Given the description of an element on the screen output the (x, y) to click on. 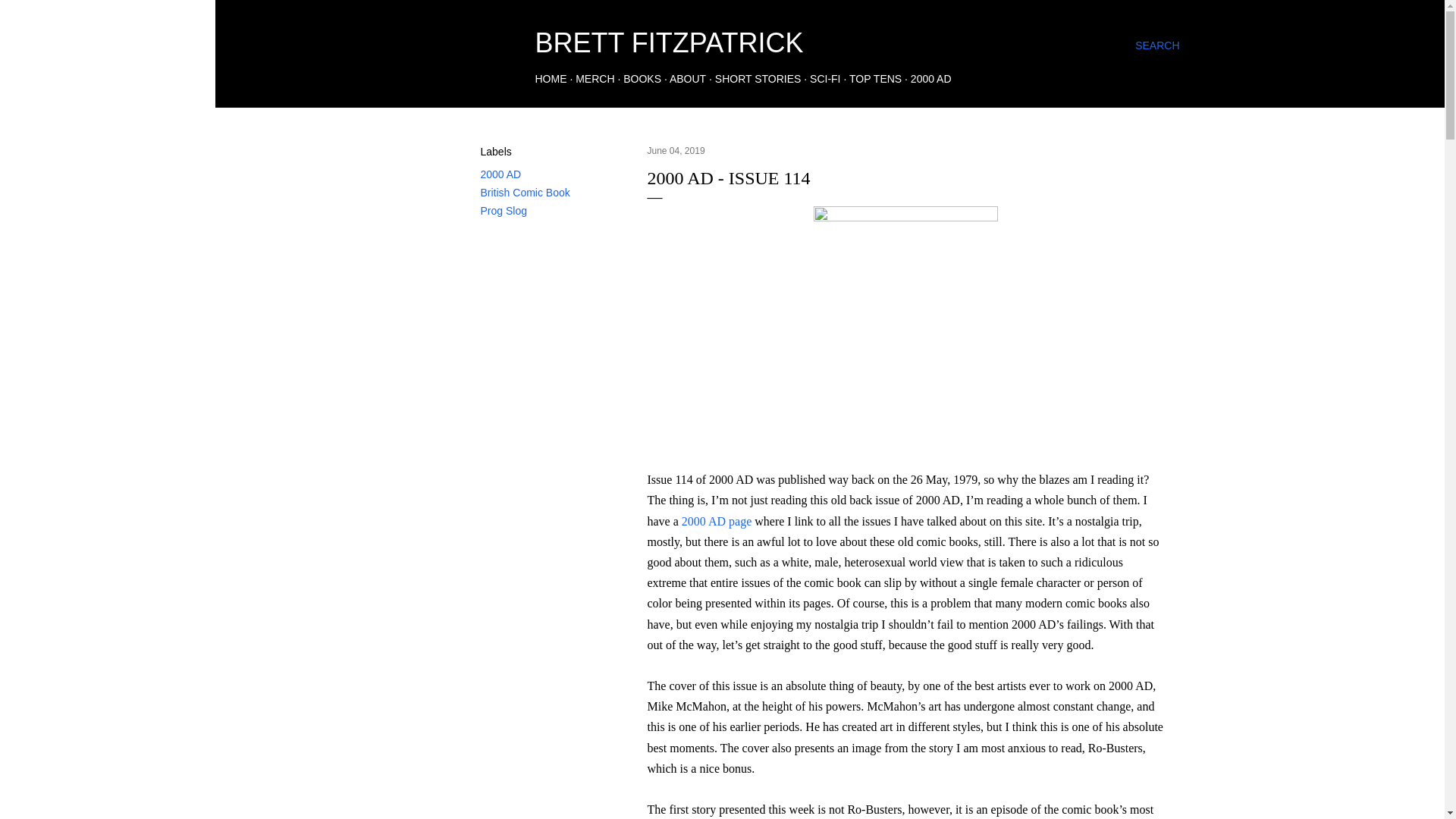
British Comic Book (525, 192)
2000 AD (931, 78)
ABOUT (687, 78)
SEARCH (1157, 45)
June 04, 2019 (675, 150)
Prog Slog (503, 210)
HOME (551, 78)
permanent link (675, 150)
2000 AD page (716, 521)
BRETT FITZPATRICK (669, 42)
2000 AD (500, 174)
MERCH (594, 78)
SCI-FI (824, 78)
SHORT STORIES (758, 78)
BOOKS (642, 78)
